Given the description of an element on the screen output the (x, y) to click on. 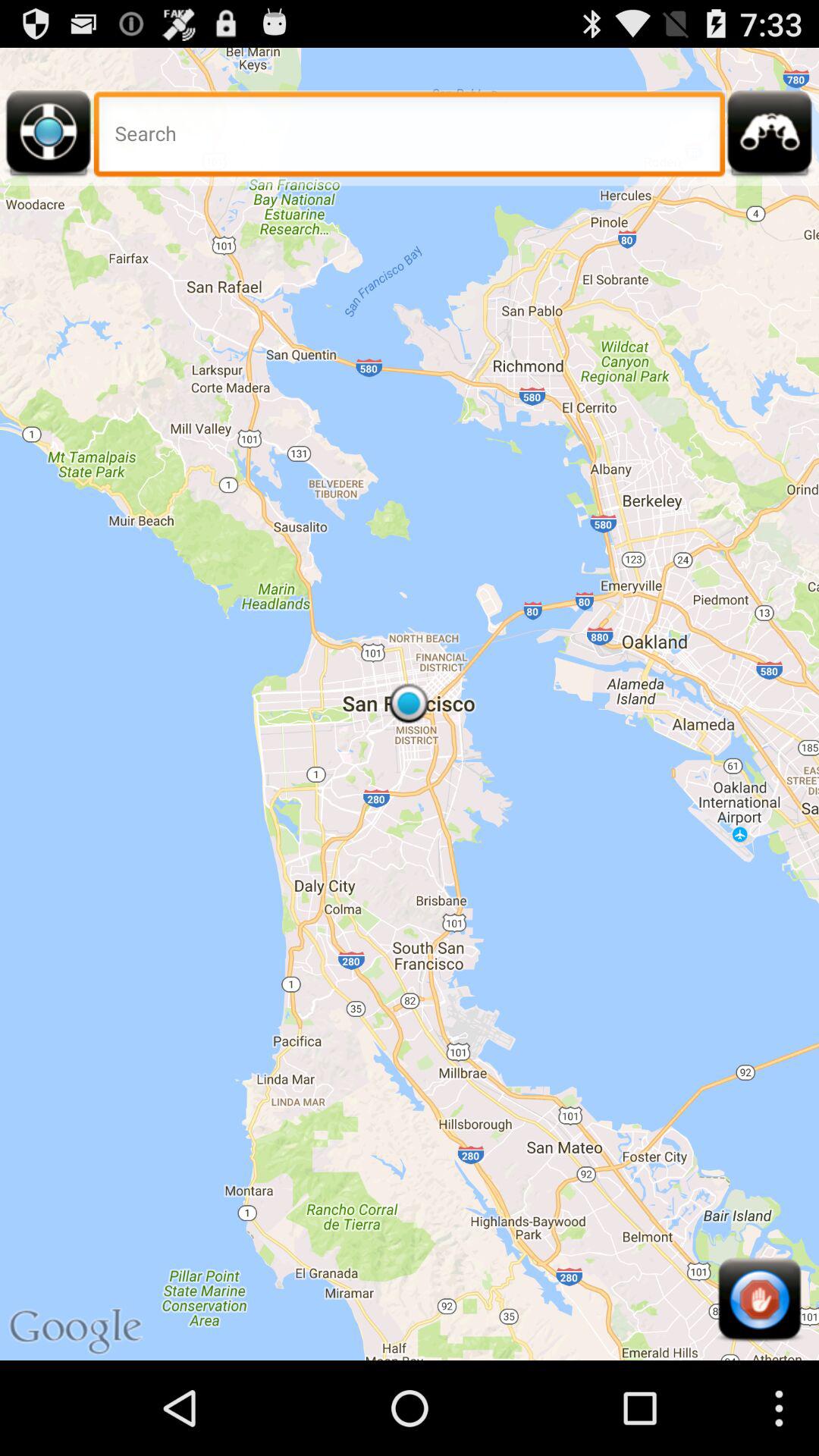
open the icon at the top left corner (48, 137)
